Given the description of an element on the screen output the (x, y) to click on. 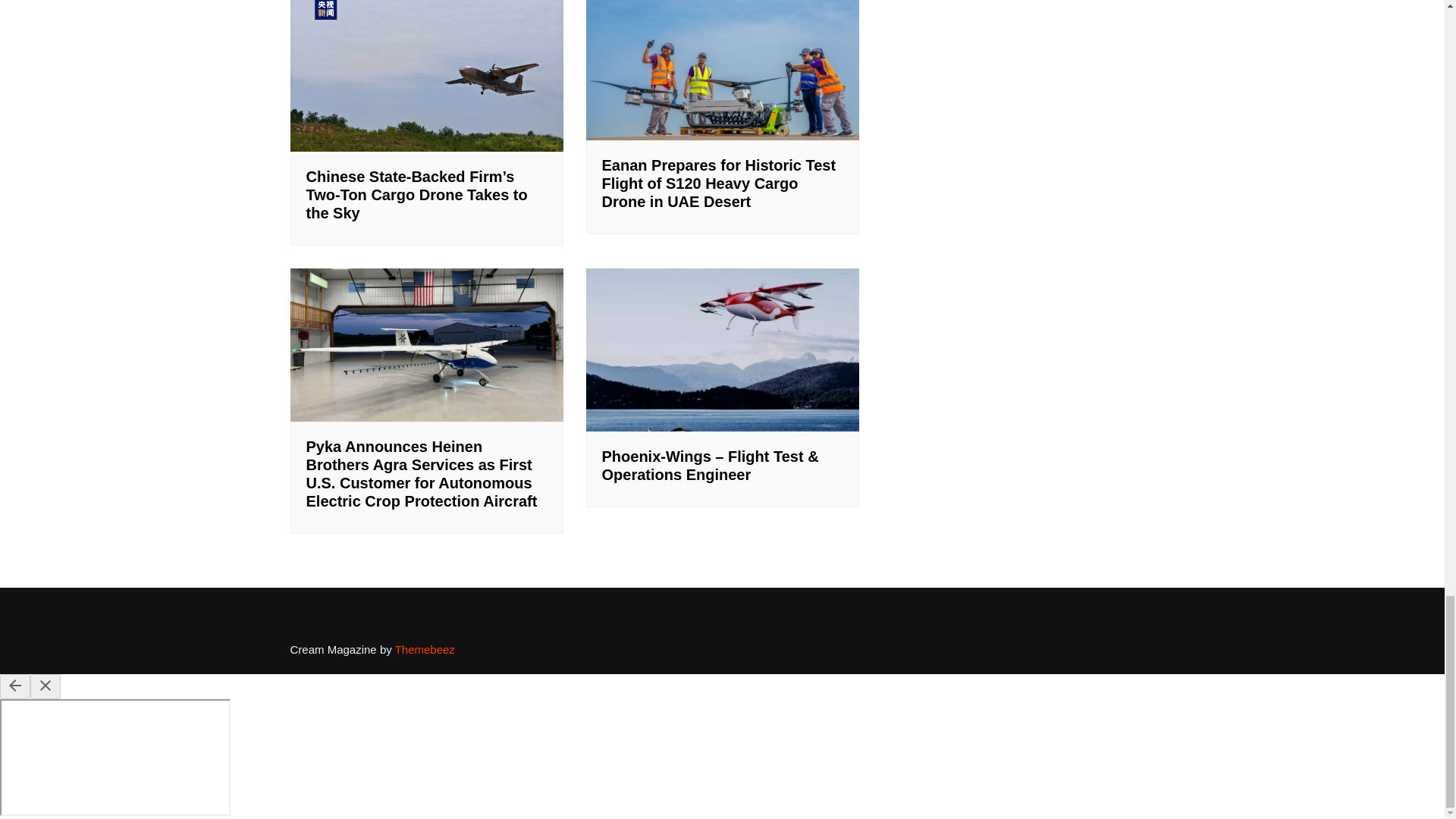
Themebeez (424, 649)
